Given the description of an element on the screen output the (x, y) to click on. 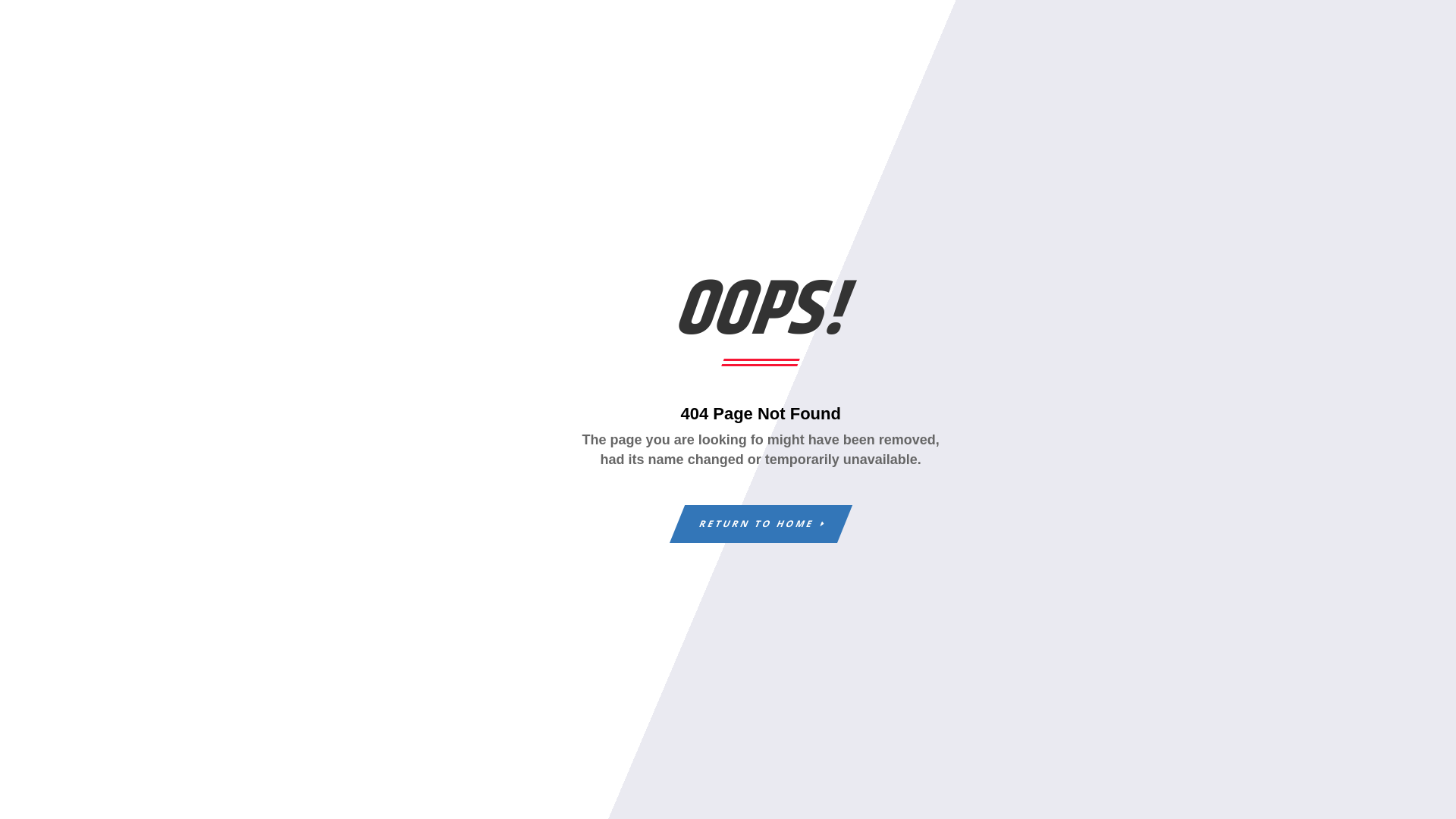
RETURN TO HOME Element type: text (752, 523)
